Given the description of an element on the screen output the (x, y) to click on. 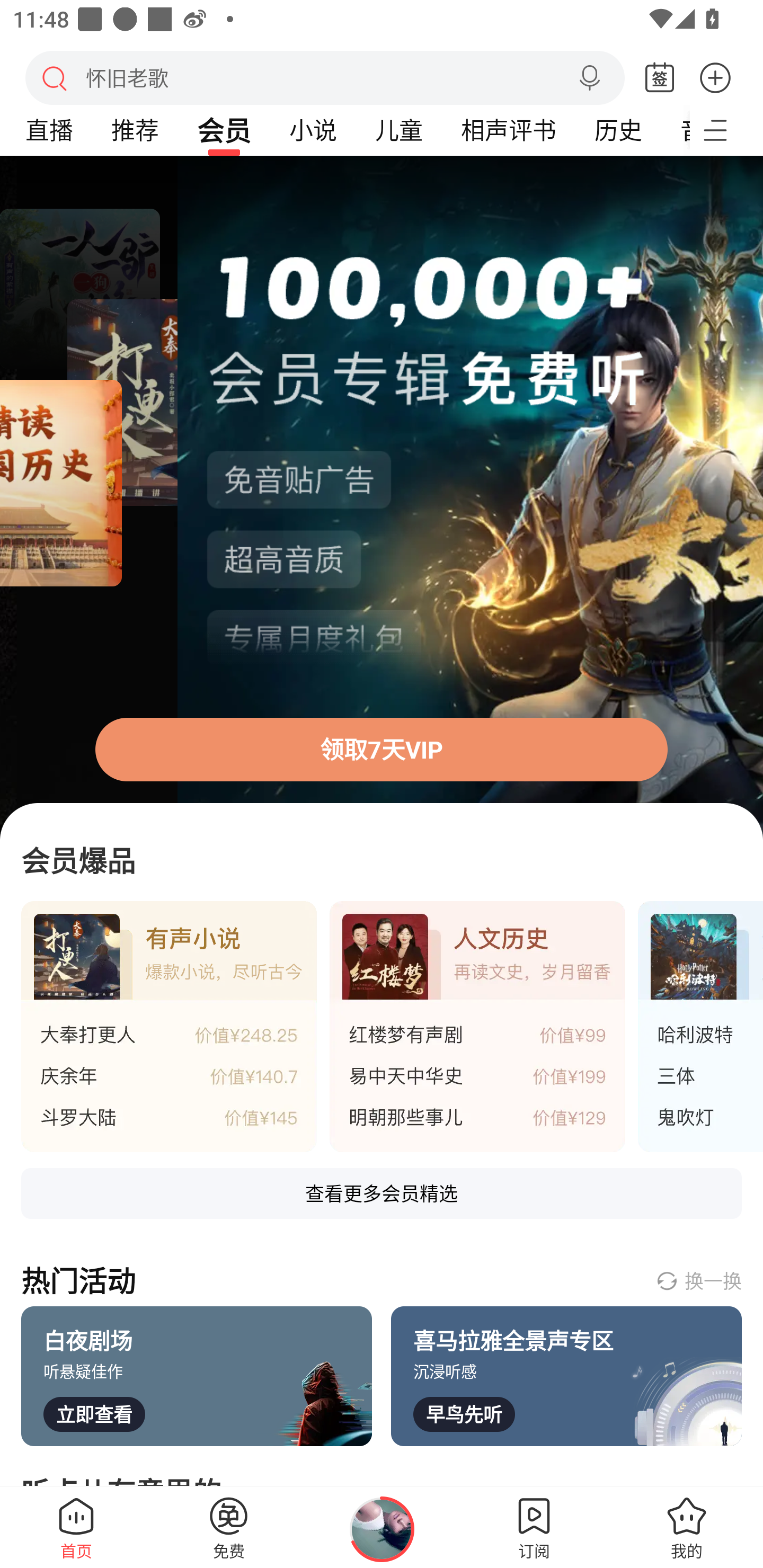
搜索 怀旧老歌 语音搜索 (324, 77)
更多 (714, 77)
签到 (659, 78)
语音搜索 (589, 78)
直播 (49, 130)
推荐 (134, 130)
会员 (223, 130)
小说 (313, 130)
儿童 (398, 130)
相声评书 (508, 130)
历史 (618, 130)
更多频道 (726, 130)
领取7天VIP (381, 497)
领取7天VIP (381, 749)
查看更多会员精选 (381, 1193)
换一换 (698, 1279)
白夜剧场 听悬疑佳作 立即查看 (196, 1375)
喜马拉雅全景声专区 沉浸听感 早鸟先听 (565, 1375)
首页 (76, 1526)
免费 (228, 1526)
订阅 (533, 1526)
我的 (686, 1526)
正在播放Alpha-橘子海OrangeOcean，点击后打开播放页 (381, 1529)
